Given the description of an element on the screen output the (x, y) to click on. 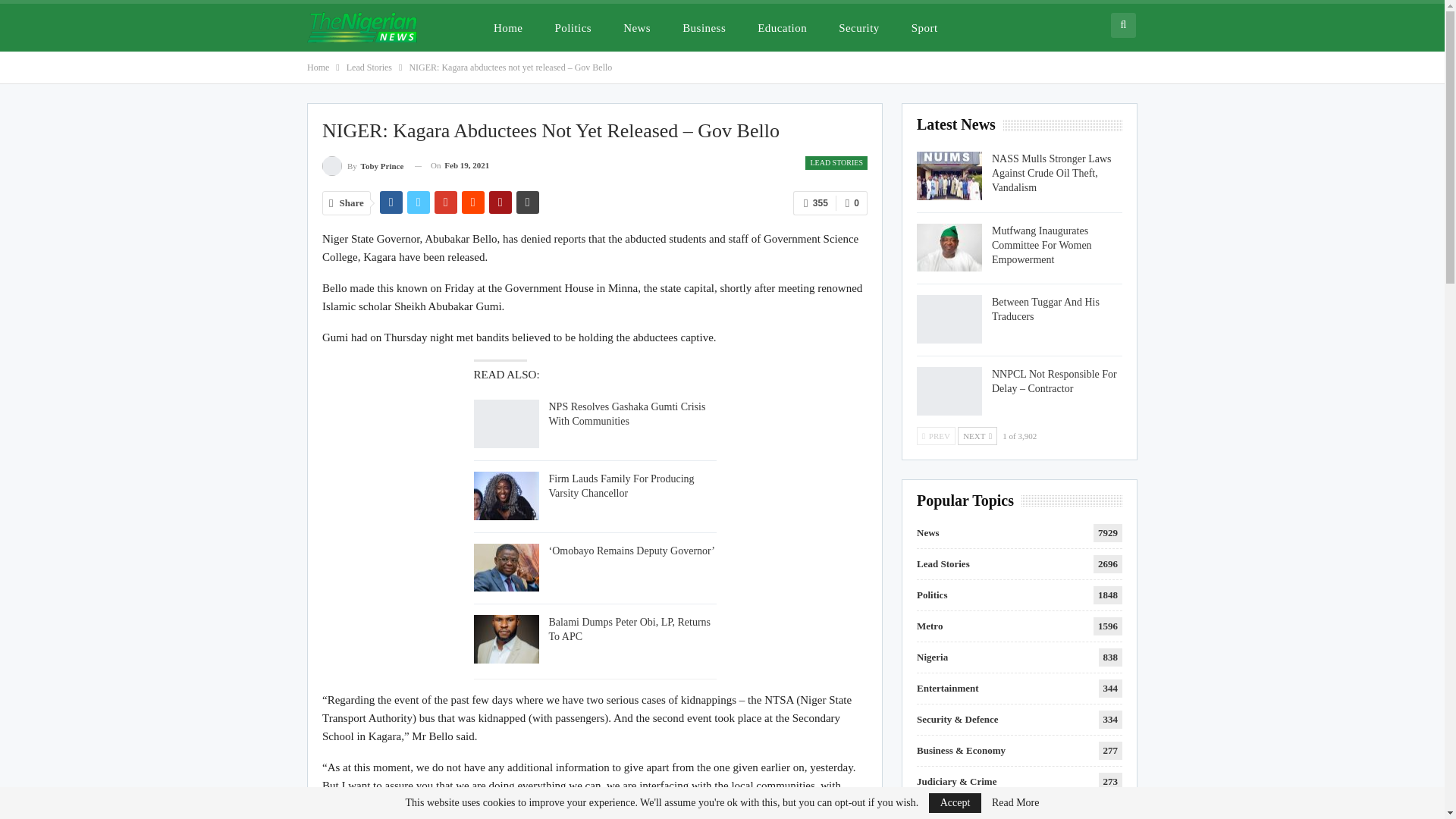
Balami Dumps Peter Obi, LP, Returns To APC (629, 629)
By Toby Prince (362, 165)
NPS Resolves Gashaka Gumti Crisis With Communities (627, 413)
Balami Dumps Peter Obi, LP, Returns To APC (505, 639)
Firm Lauds Family For Producing Varsity Chancellor (621, 485)
Firm Lauds Family For Producing Varsity Chancellor (505, 495)
News (636, 27)
Security (859, 27)
Lead Stories (368, 67)
Education (781, 27)
Sport (924, 27)
Politics (572, 27)
0 (851, 202)
Business (703, 27)
Browse Author Articles (362, 165)
